Given the description of an element on the screen output the (x, y) to click on. 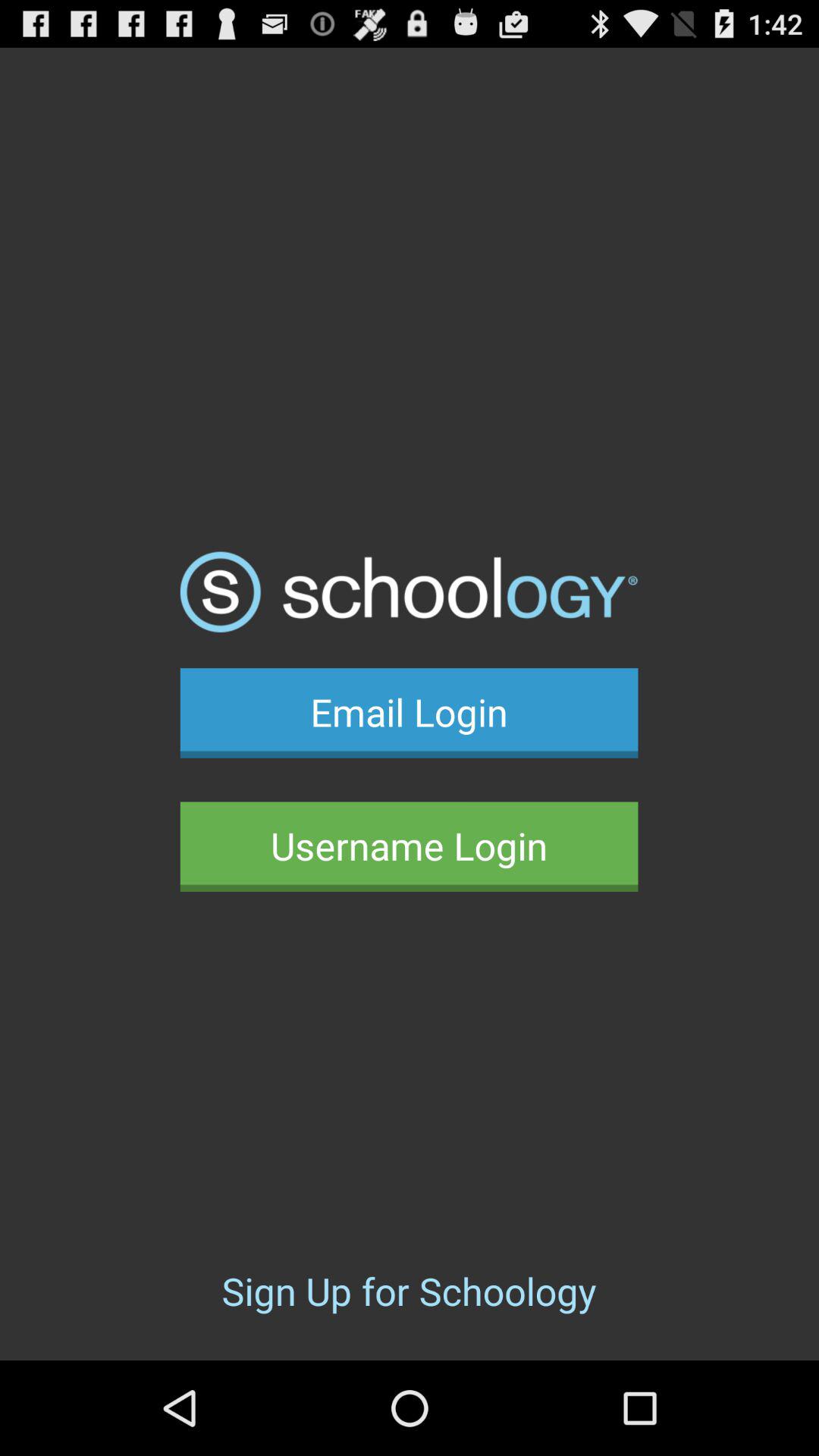
swipe until the username login icon (409, 846)
